Given the description of an element on the screen output the (x, y) to click on. 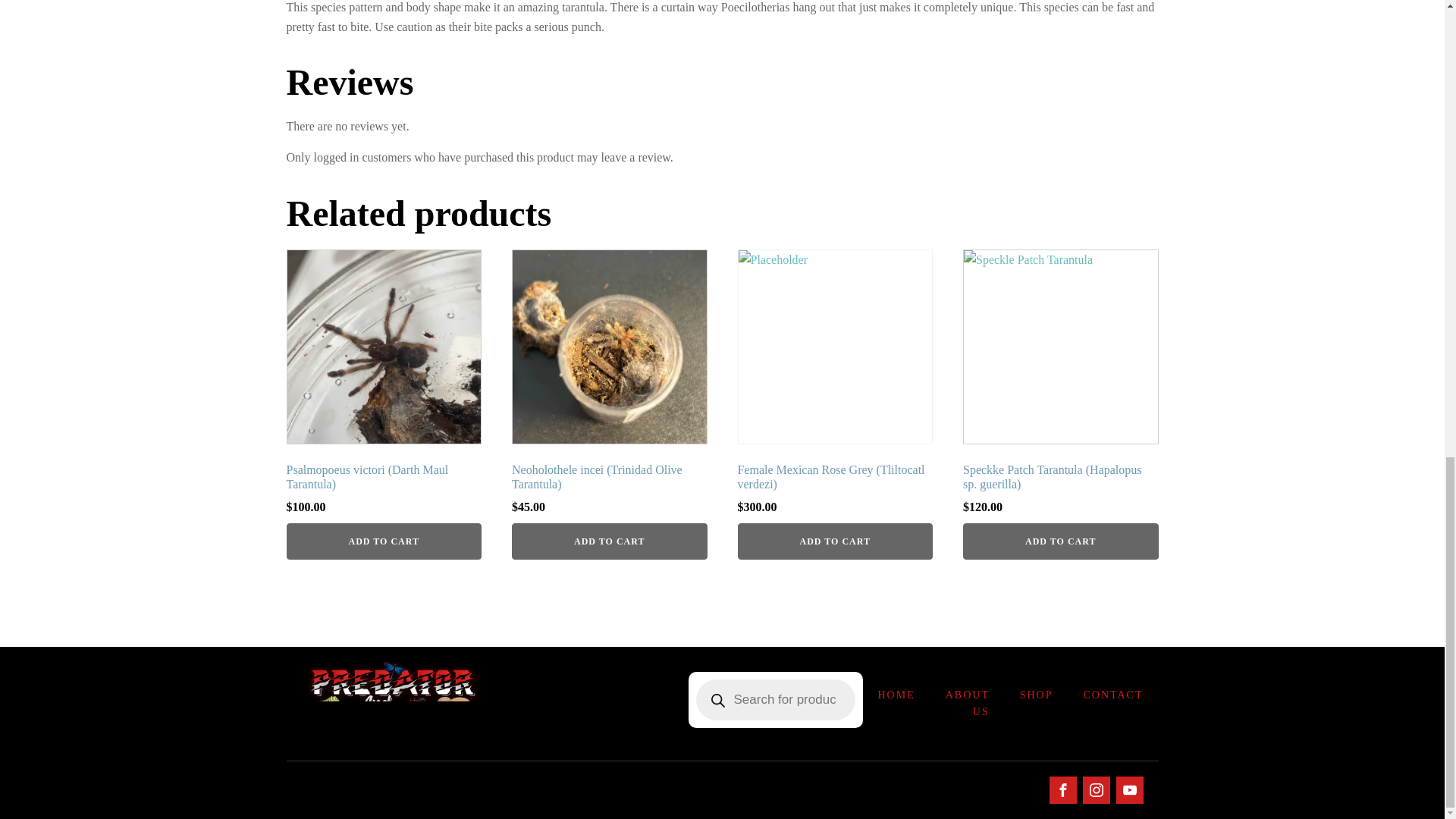
ADD TO CART (383, 541)
ABOUT US (967, 703)
CONTACT (1112, 695)
ADD TO CART (609, 541)
HOME (896, 695)
ADD TO CART (1060, 541)
SHOP (1036, 695)
ADD TO CART (834, 541)
